Given the description of an element on the screen output the (x, y) to click on. 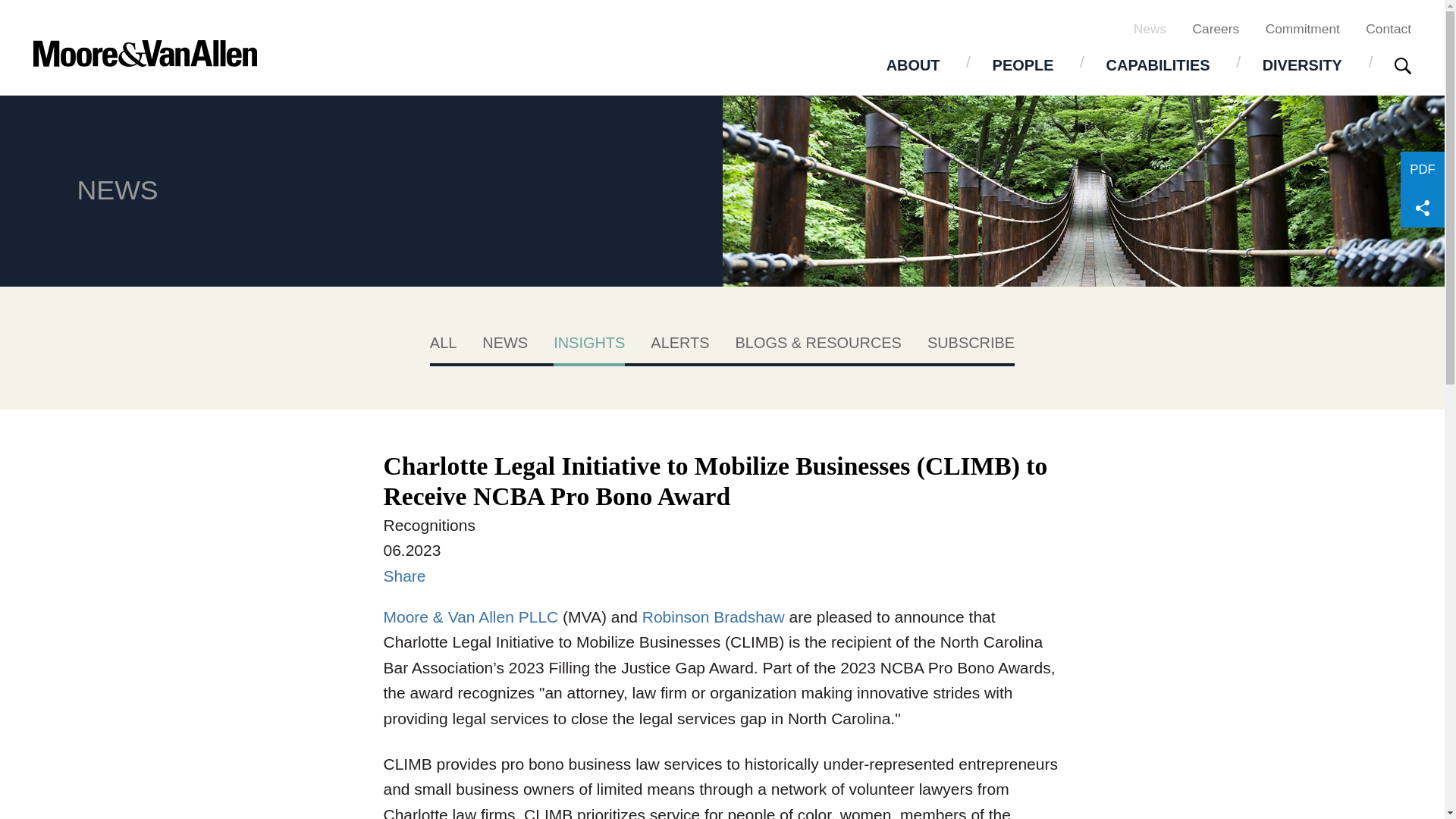
DIVERSITY (1302, 64)
Share (1422, 208)
Commitment (1302, 28)
SEARCH (1402, 66)
SEARCH (1402, 65)
Menu (671, 20)
Share (405, 575)
Main Menu (671, 20)
Main Content (663, 20)
News (1150, 28)
